Given the description of an element on the screen output the (x, y) to click on. 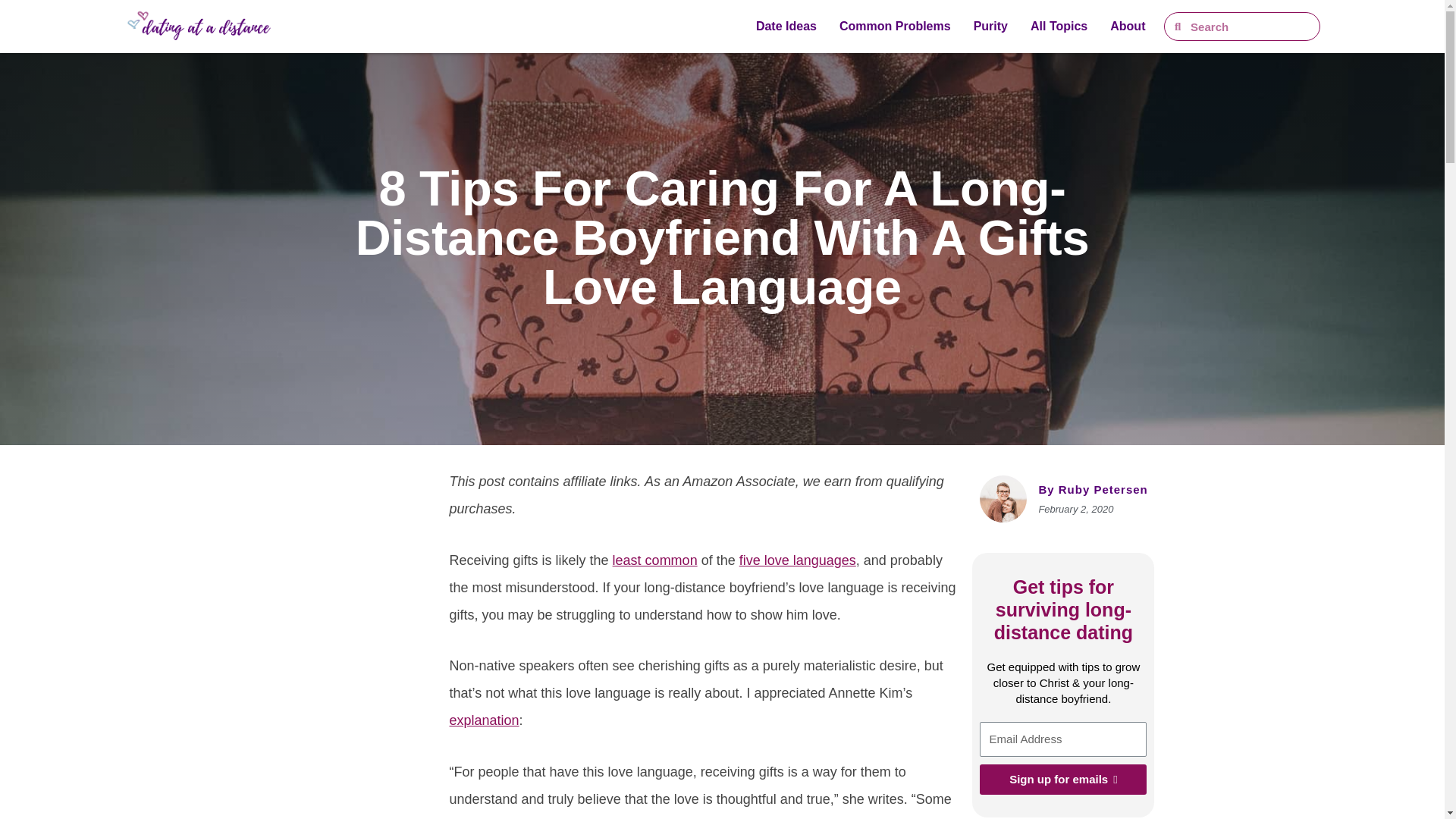
five love languages (797, 559)
Sign up for emails (1063, 779)
About (1127, 26)
All Topics (1059, 26)
Date Ideas (786, 26)
Common Problems (895, 26)
Search (1249, 26)
explanation (483, 720)
Purity (990, 26)
least common (654, 559)
